Given the description of an element on the screen output the (x, y) to click on. 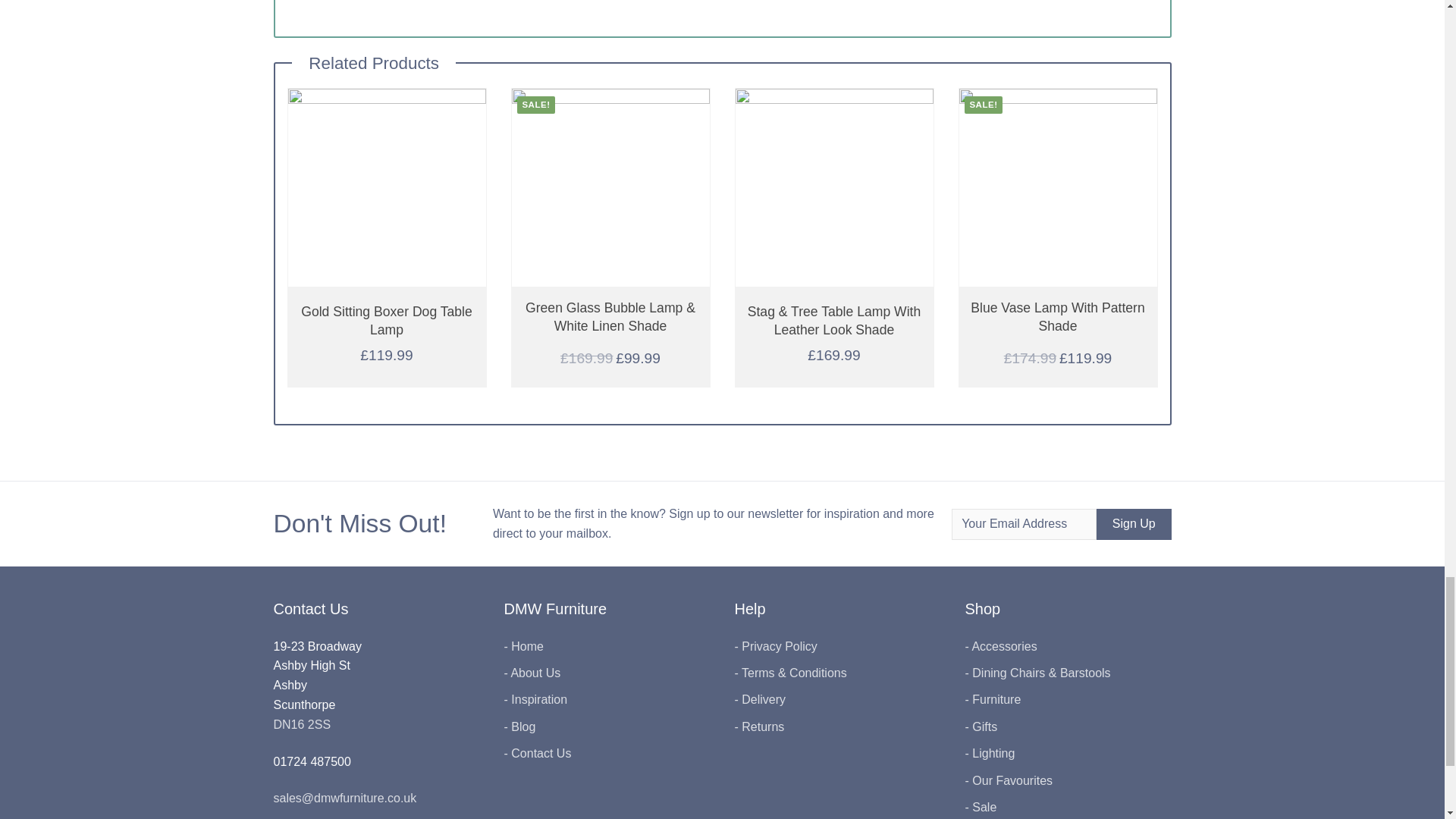
Sign Up (1134, 523)
